Given the description of an element on the screen output the (x, y) to click on. 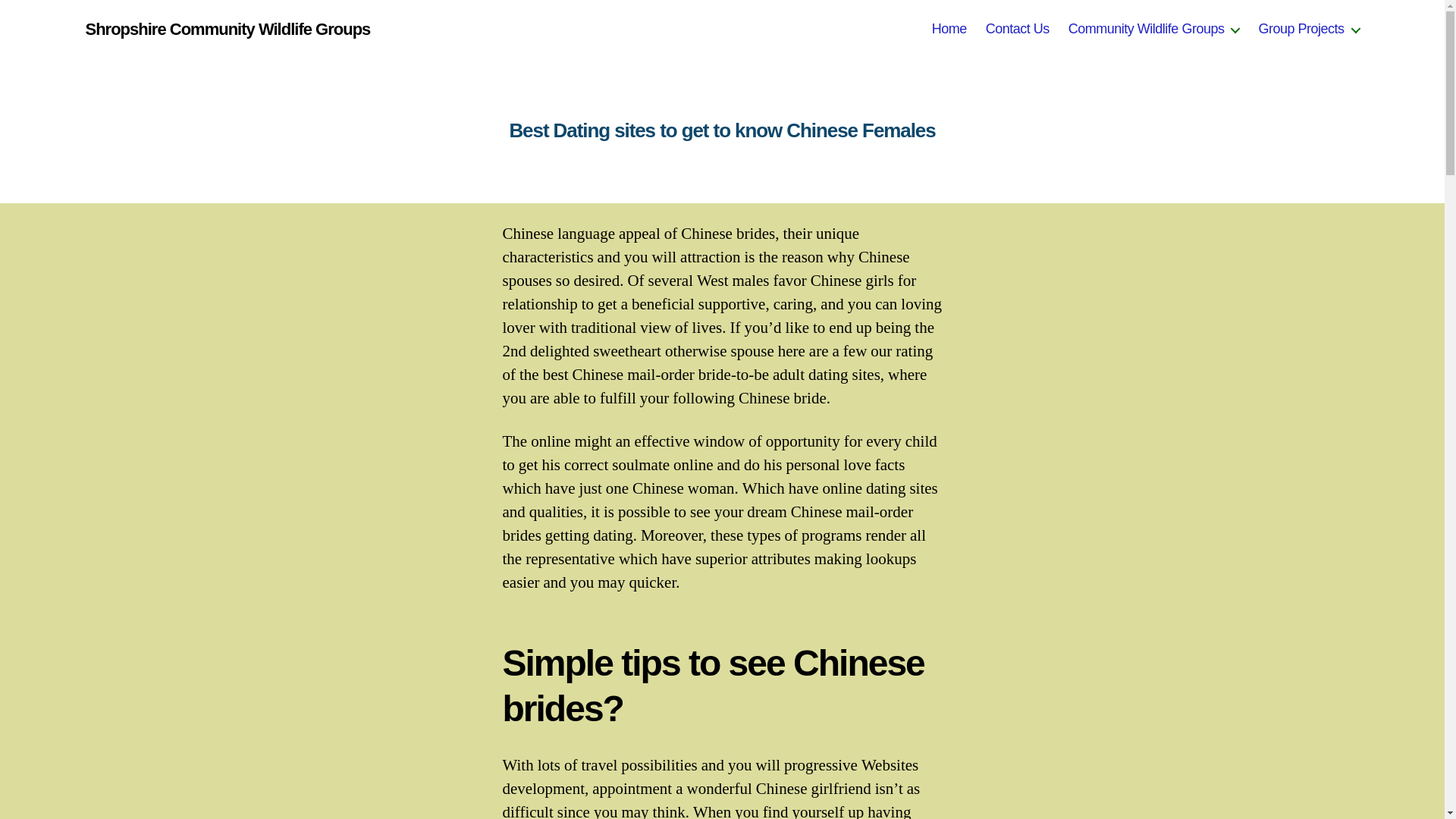
Community Wildlife Groups (1154, 29)
Shropshire Community Wildlife Groups (226, 29)
Group Projects (1307, 29)
Home (948, 29)
Contact Us (1017, 29)
